Given the description of an element on the screen output the (x, y) to click on. 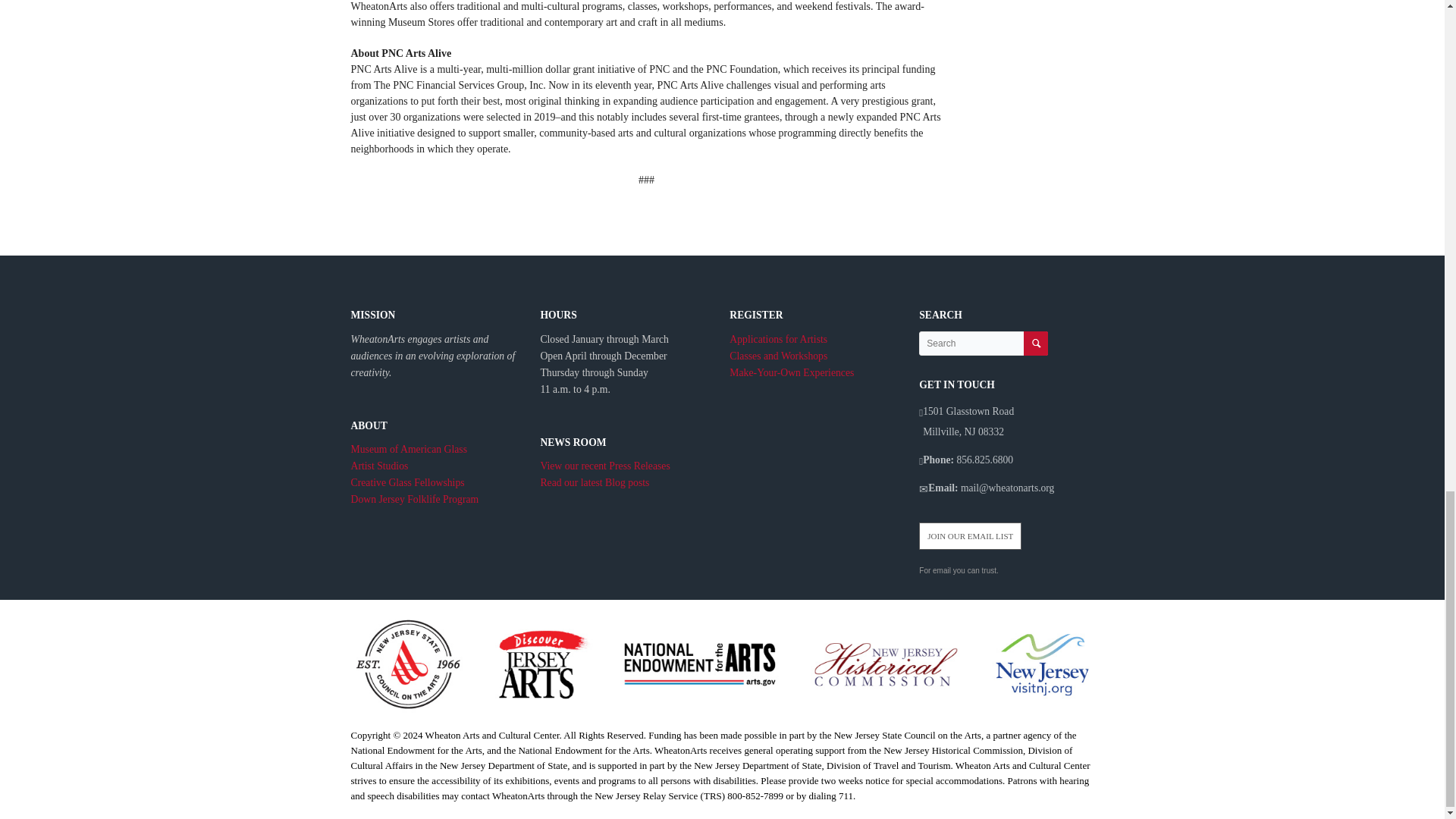
Search (1035, 343)
